Given the description of an element on the screen output the (x, y) to click on. 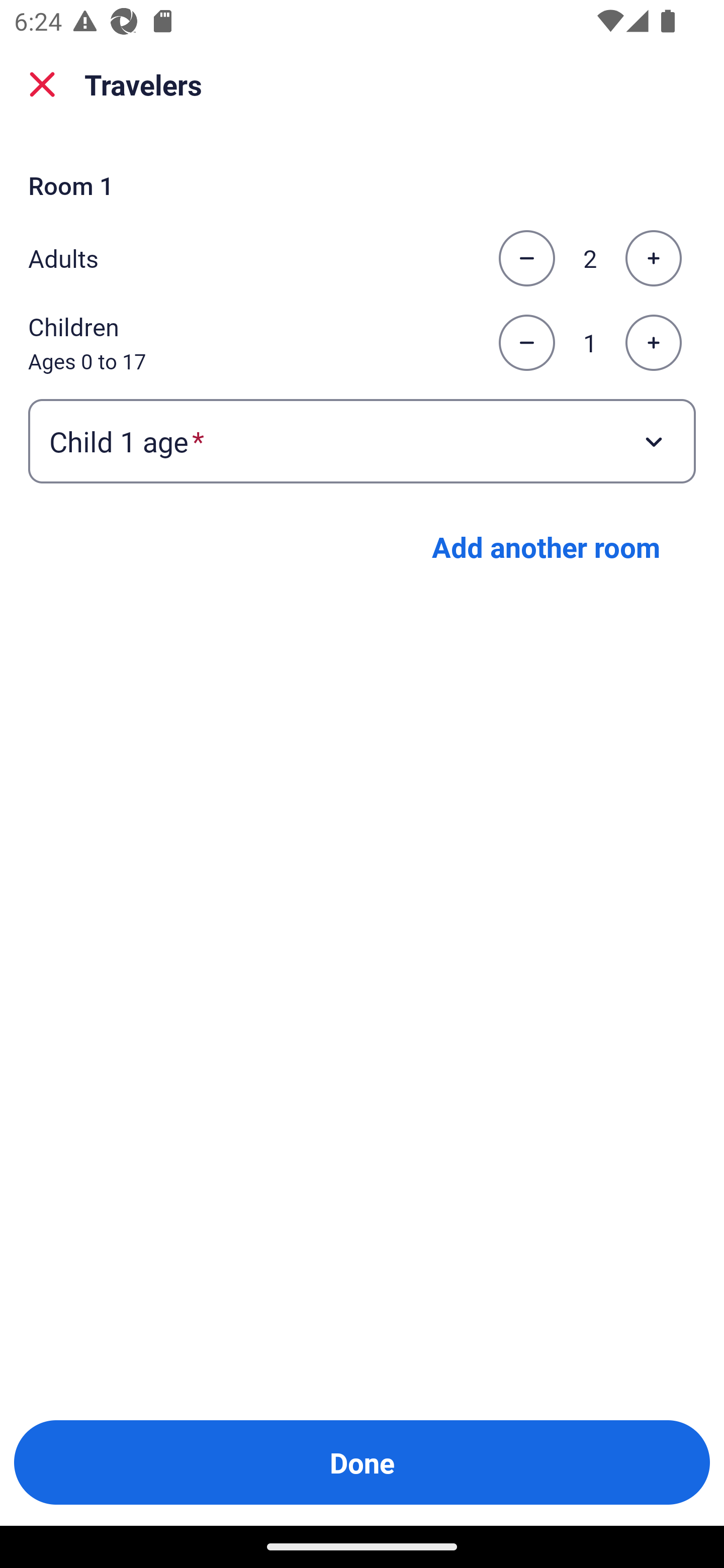
close (42, 84)
Decrease the number of adults (526, 258)
Increase the number of adults (653, 258)
Decrease the number of children (526, 343)
Increase the number of children (653, 343)
Child 1 age required Button (361, 440)
Add another room (545, 546)
Done (361, 1462)
